Given the description of an element on the screen output the (x, y) to click on. 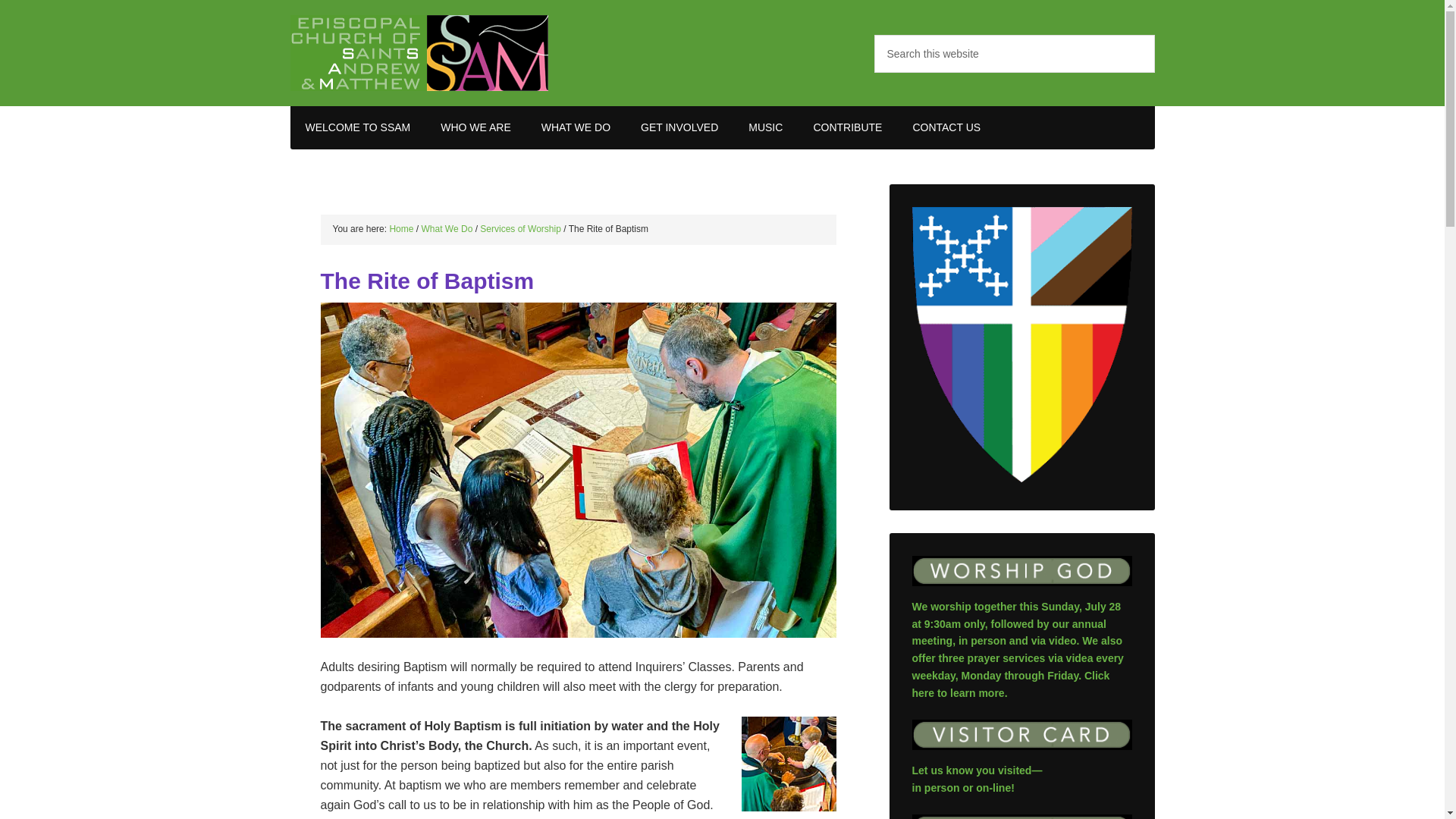
WHAT WE DO (575, 127)
WELCOME TO SSAM (357, 127)
WHO WE ARE (475, 127)
